Given the description of an element on the screen output the (x, y) to click on. 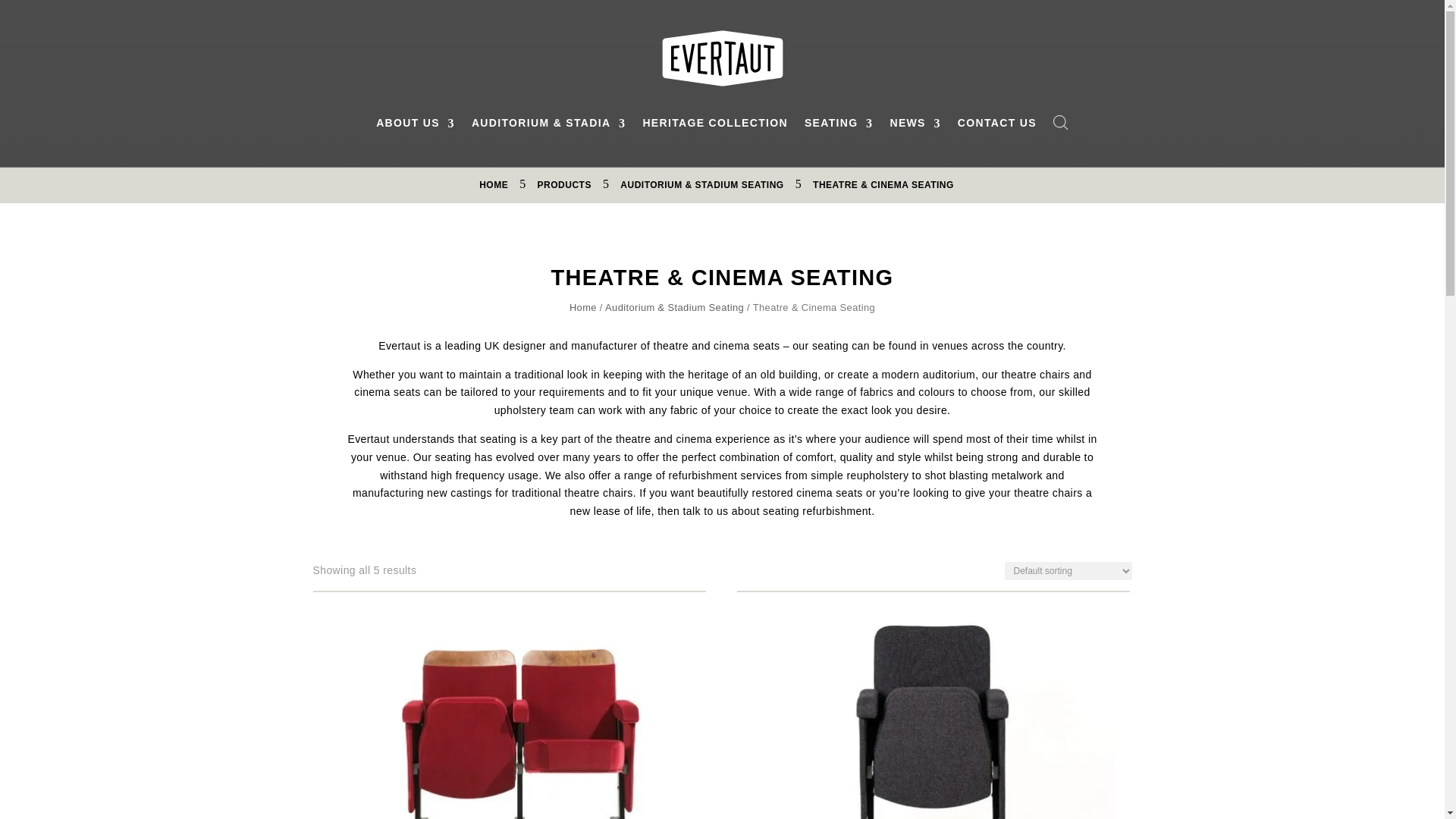
ABOUT US (414, 126)
NEWS (914, 126)
HOME (493, 184)
Welcome to Evertaut Seating (722, 58)
HERITAGE COLLECTION (714, 126)
SEATING (839, 126)
CONTACT US (997, 126)
